Given the description of an element on the screen output the (x, y) to click on. 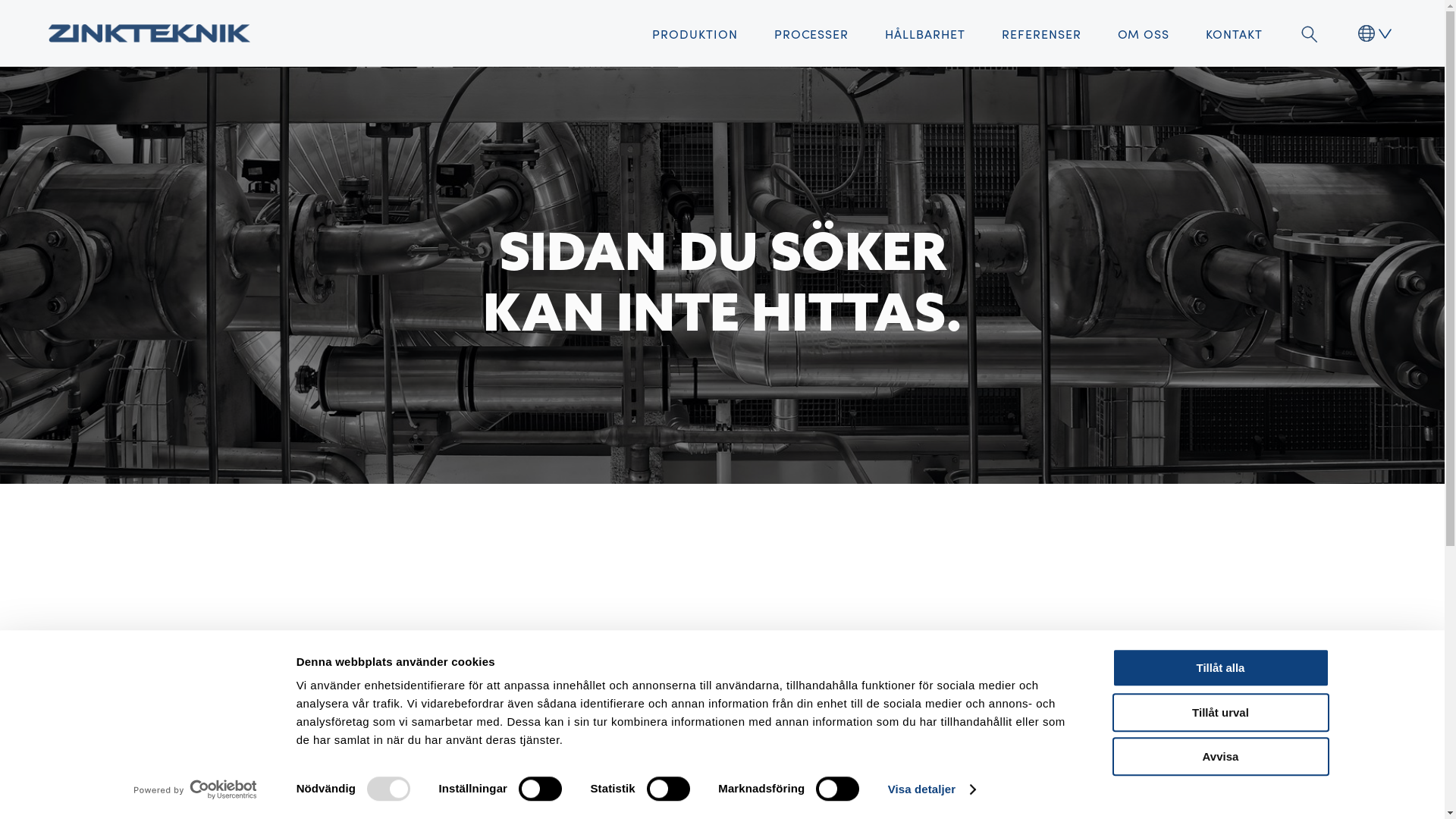
Visa detaljer Element type: text (931, 789)
OM OSS Element type: text (1143, 33)
Avvisa Element type: text (1219, 756)
KONTAKT Element type: text (1233, 33)
REFERENSER Element type: text (1041, 33)
PRODUKTION Element type: text (694, 33)
PROCESSER Element type: text (811, 33)
